Given the description of an element on the screen output the (x, y) to click on. 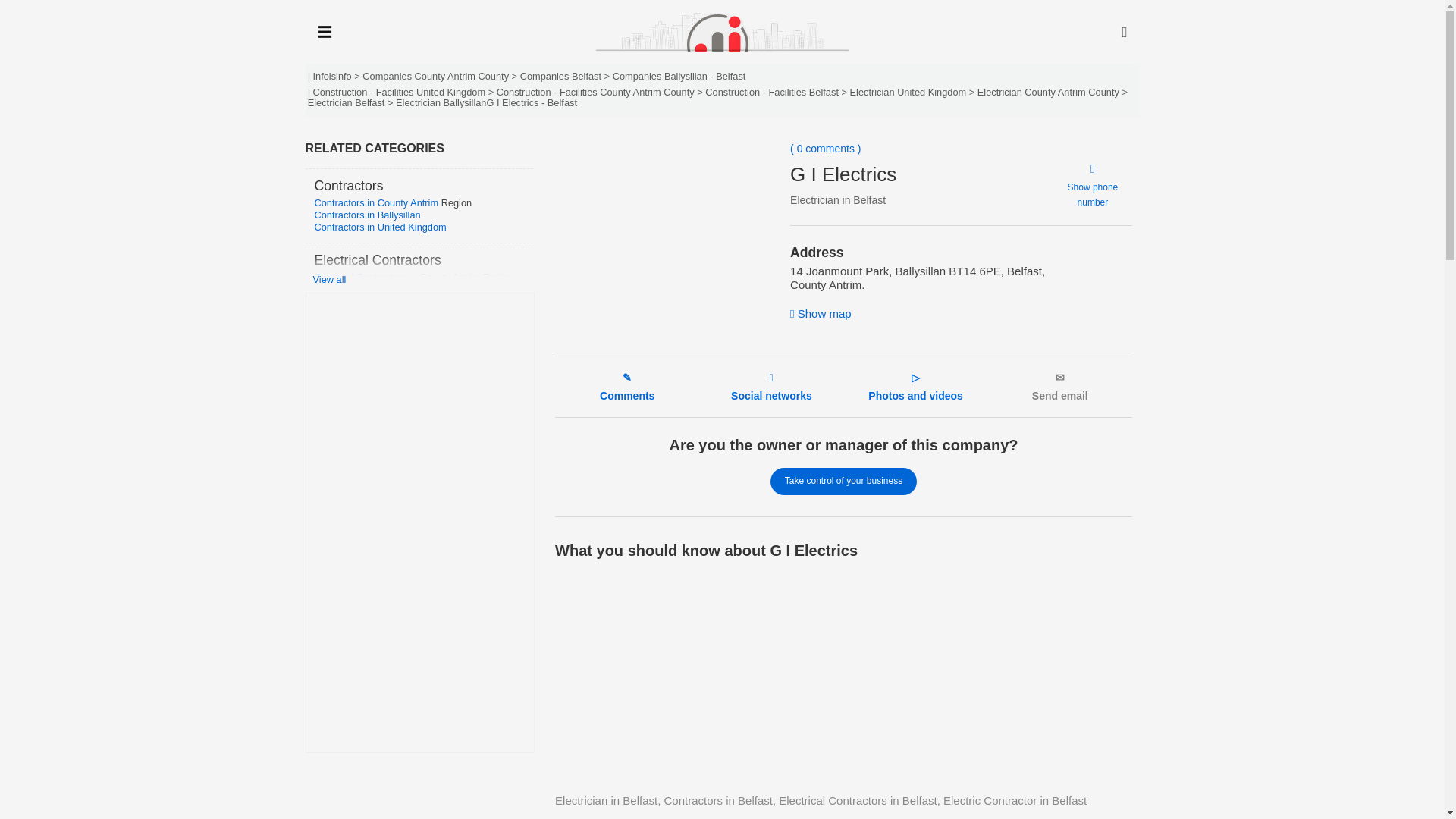
Electrician County Antrim County (1047, 91)
Construction - Facilities Belfast (771, 91)
Companies Ballysillan - Belfast (678, 75)
Electrician United Kingdom (908, 91)
Contractors in Ballysillan (367, 214)
We don't have a contact email address for this business (1059, 386)
Infoisinfo (331, 75)
Construction - Facilities United Kingdom (398, 91)
Companies Belfast (560, 75)
View all (422, 279)
